Given the description of an element on the screen output the (x, y) to click on. 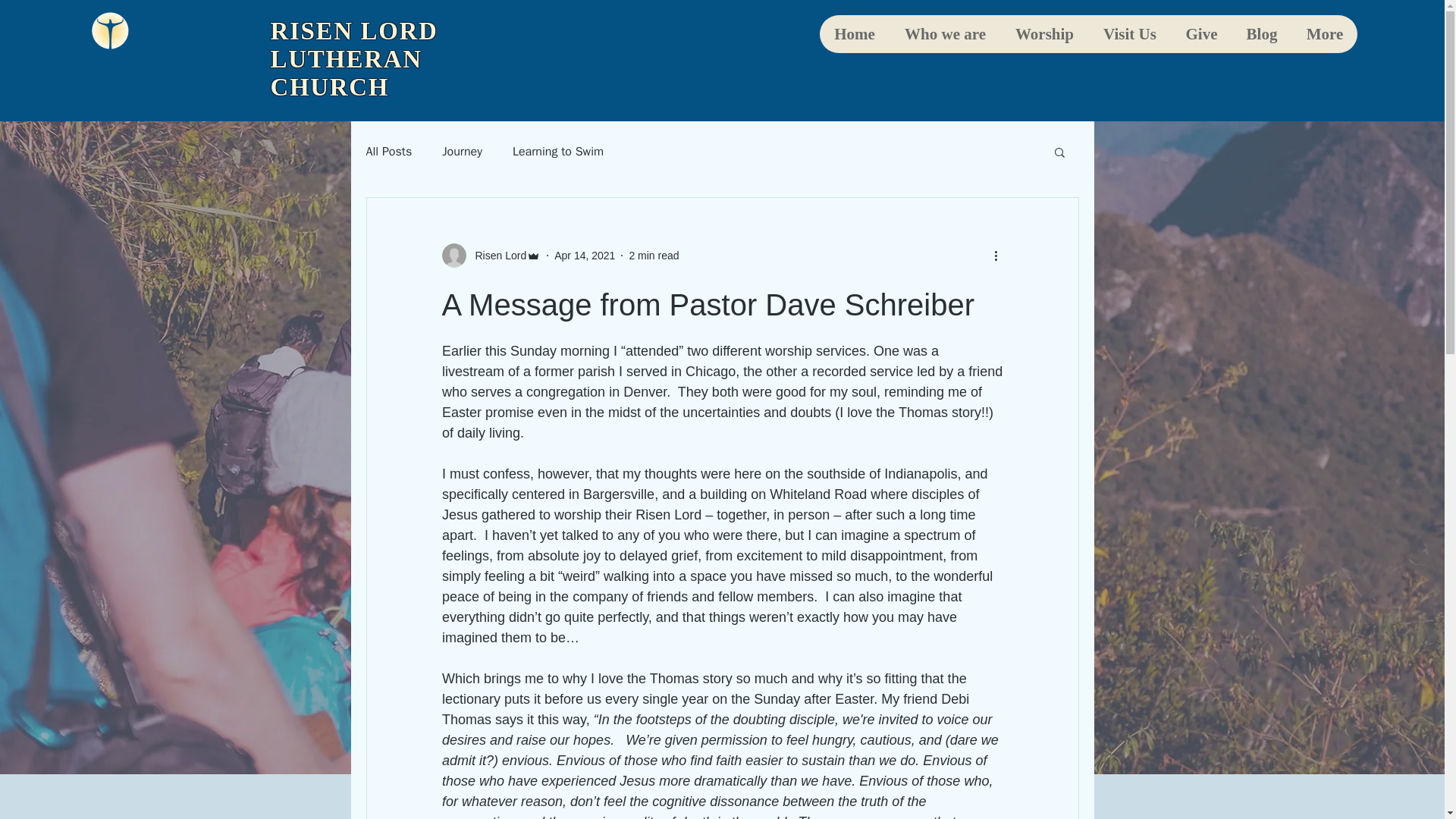
Worship (1043, 34)
Give (1200, 34)
Home (854, 34)
2 min read (653, 254)
Blog (1261, 34)
All Posts (388, 151)
Visit Us (1128, 34)
Apr 14, 2021 (584, 254)
Learning to Swim (558, 151)
Risen Lord (490, 255)
